Given the description of an element on the screen output the (x, y) to click on. 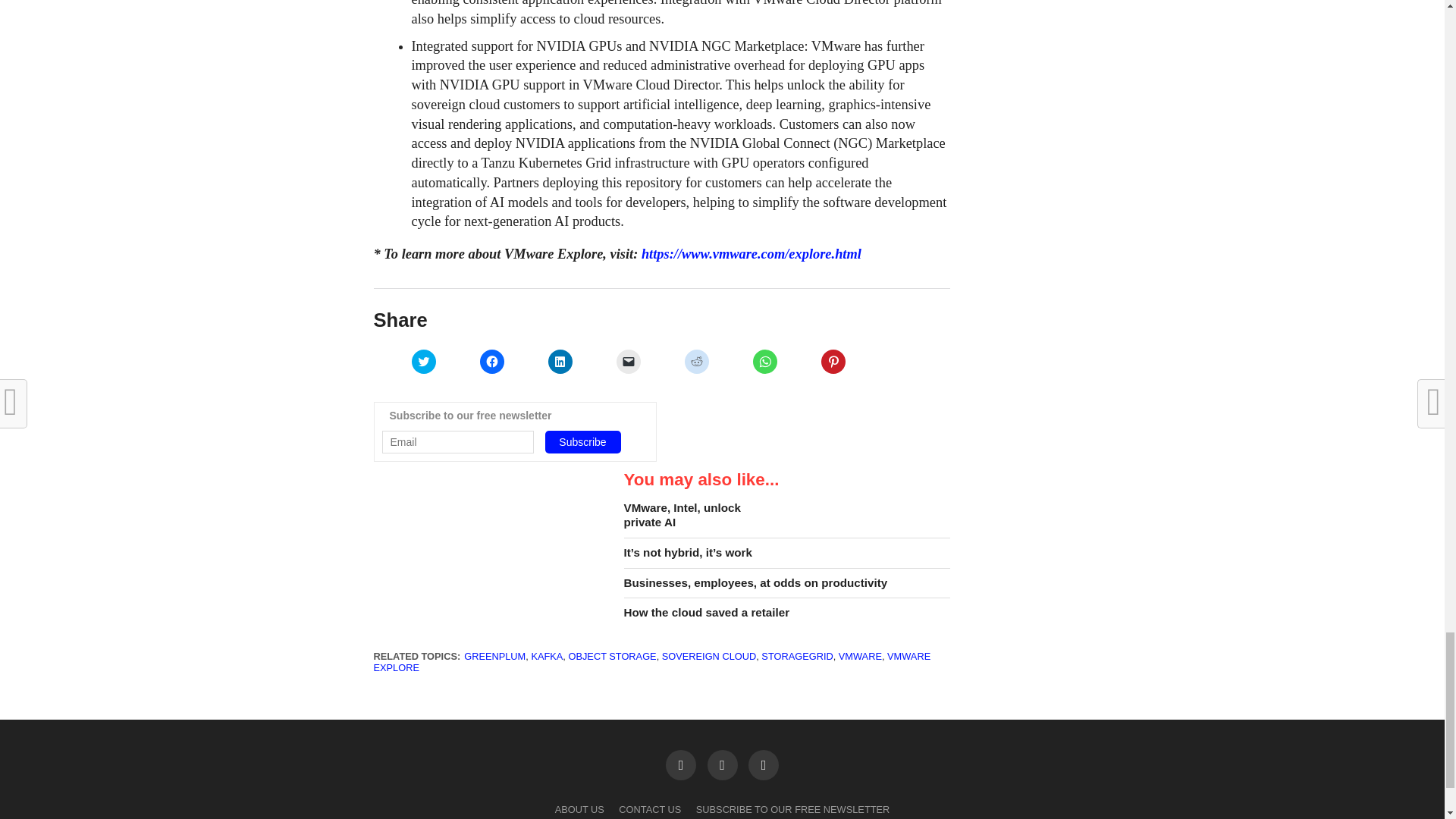
Click to email a link to a friend (627, 361)
Click to share on Facebook (491, 361)
Click to share on Twitter (422, 361)
Subscribe (582, 441)
Click to share on LinkedIn (559, 361)
